Given the description of an element on the screen output the (x, y) to click on. 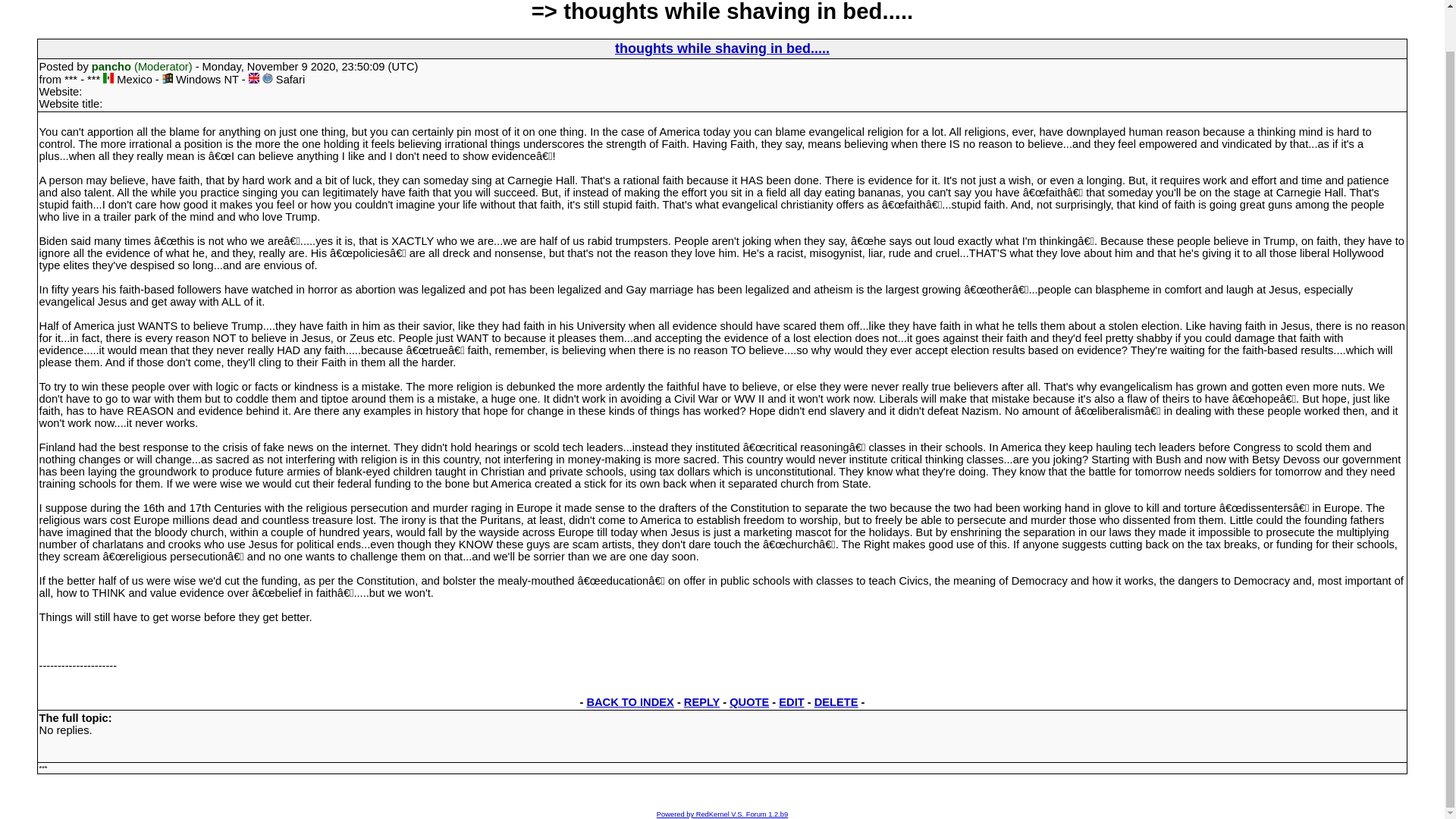
EDIT (790, 702)
QUOTE (748, 702)
REPLY (701, 702)
BACK TO INDEX (629, 702)
DELETE (836, 702)
thoughts while shaving in bed..... (721, 48)
